Given the description of an element on the screen output the (x, y) to click on. 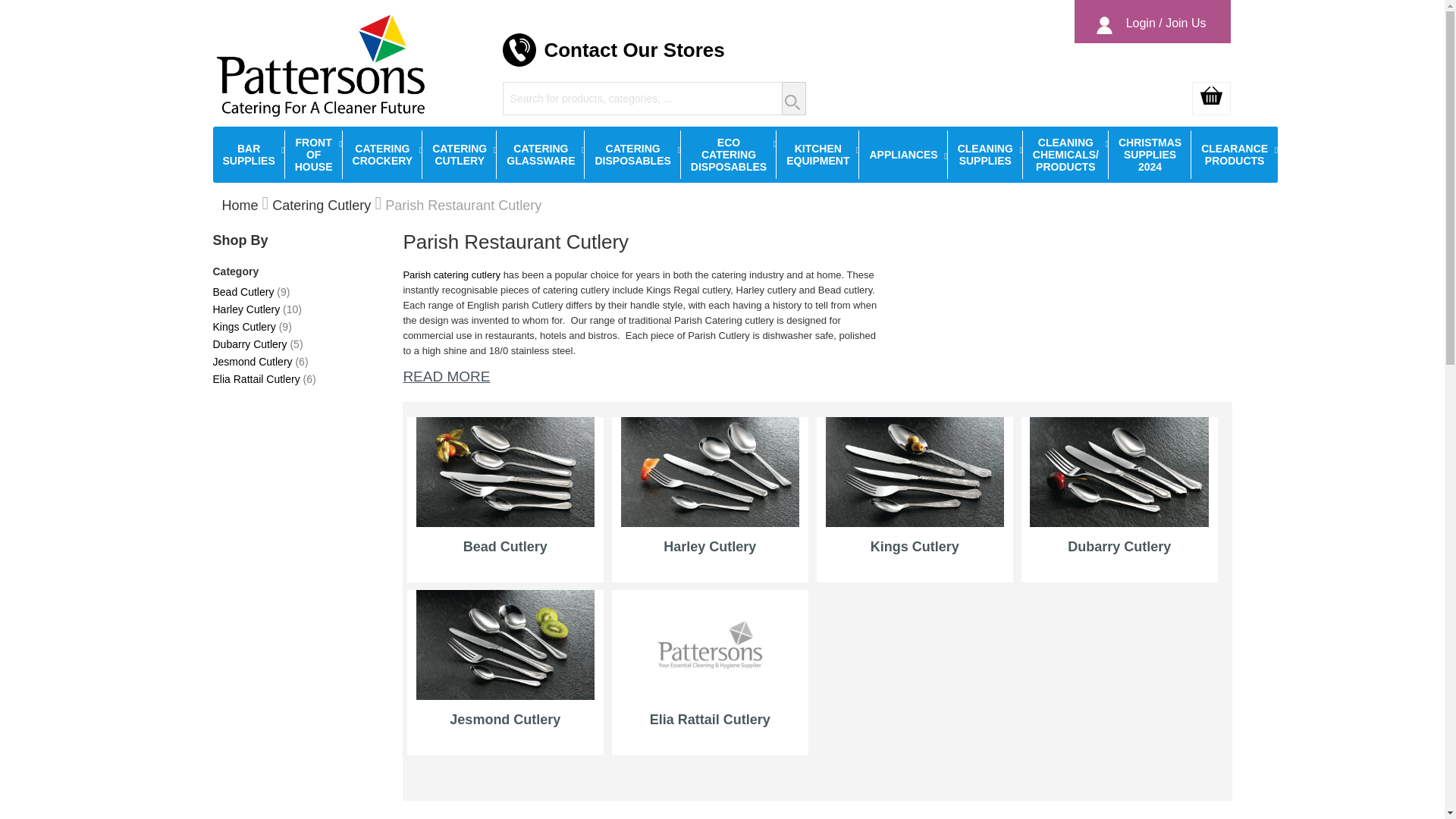
Parish Resturant Cutlery (451, 274)
BAR SUPPLIES (247, 154)
Contact Our Stores (633, 50)
Go to Home Page (239, 205)
My Basket (1211, 98)
Contact Our Stores (633, 50)
